Given the description of an element on the screen output the (x, y) to click on. 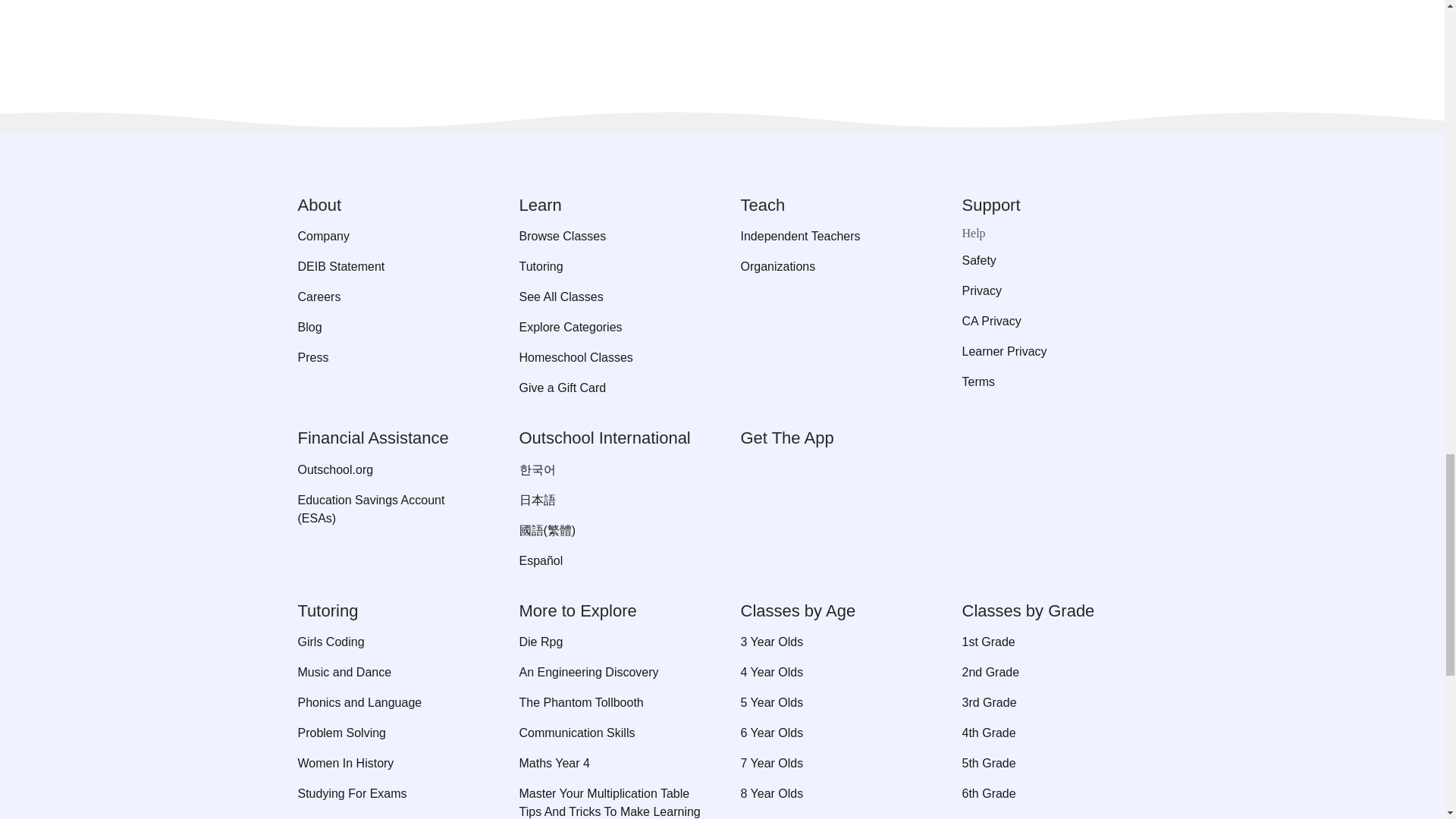
Organizations (831, 266)
DEIB Statement (389, 266)
Press (389, 357)
Explore Categories (610, 327)
Privacy (1053, 290)
Blog (389, 327)
Give a Gift Card (610, 388)
Independent Teachers (831, 236)
See All Classes (610, 297)
Tutoring (610, 266)
Safety (1053, 260)
Homeschool Classes (610, 357)
Company (389, 236)
CA Privacy (1053, 321)
Careers (389, 297)
